Given the description of an element on the screen output the (x, y) to click on. 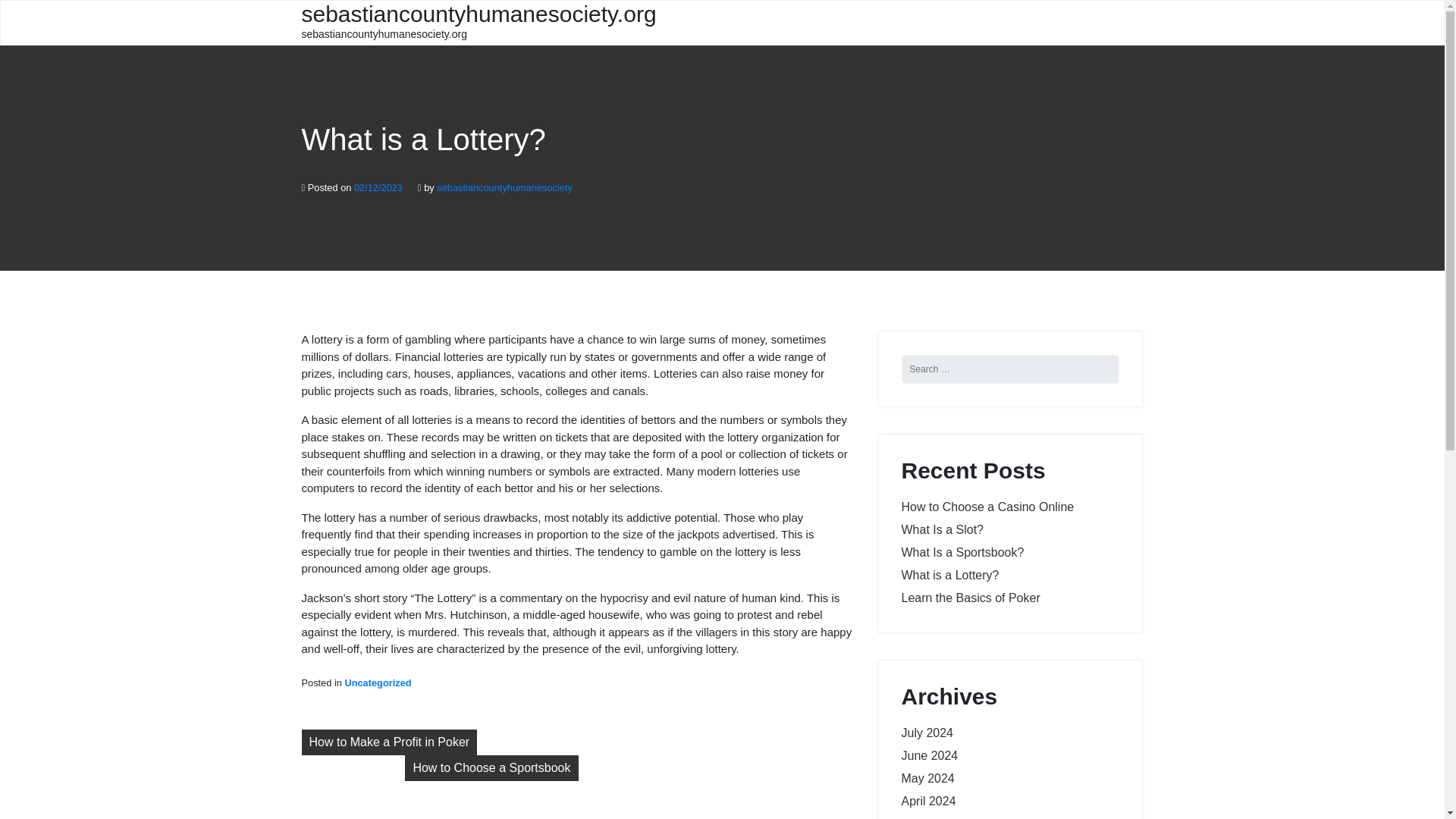
March 2024 (933, 818)
May 2024 (927, 778)
sebastiancountyhumanesociety (504, 187)
How to Choose a Casino Online (987, 506)
What is a Lottery? (949, 574)
What Is a Slot? (942, 529)
June 2024 (929, 755)
How to Make a Profit in Poker (389, 742)
Uncategorized (376, 682)
Learn the Basics of Poker (970, 597)
How to Choose a Sportsbook (491, 768)
July 2024 (927, 732)
April 2024 (928, 800)
What Is a Sportsbook? (962, 552)
